Given the description of an element on the screen output the (x, y) to click on. 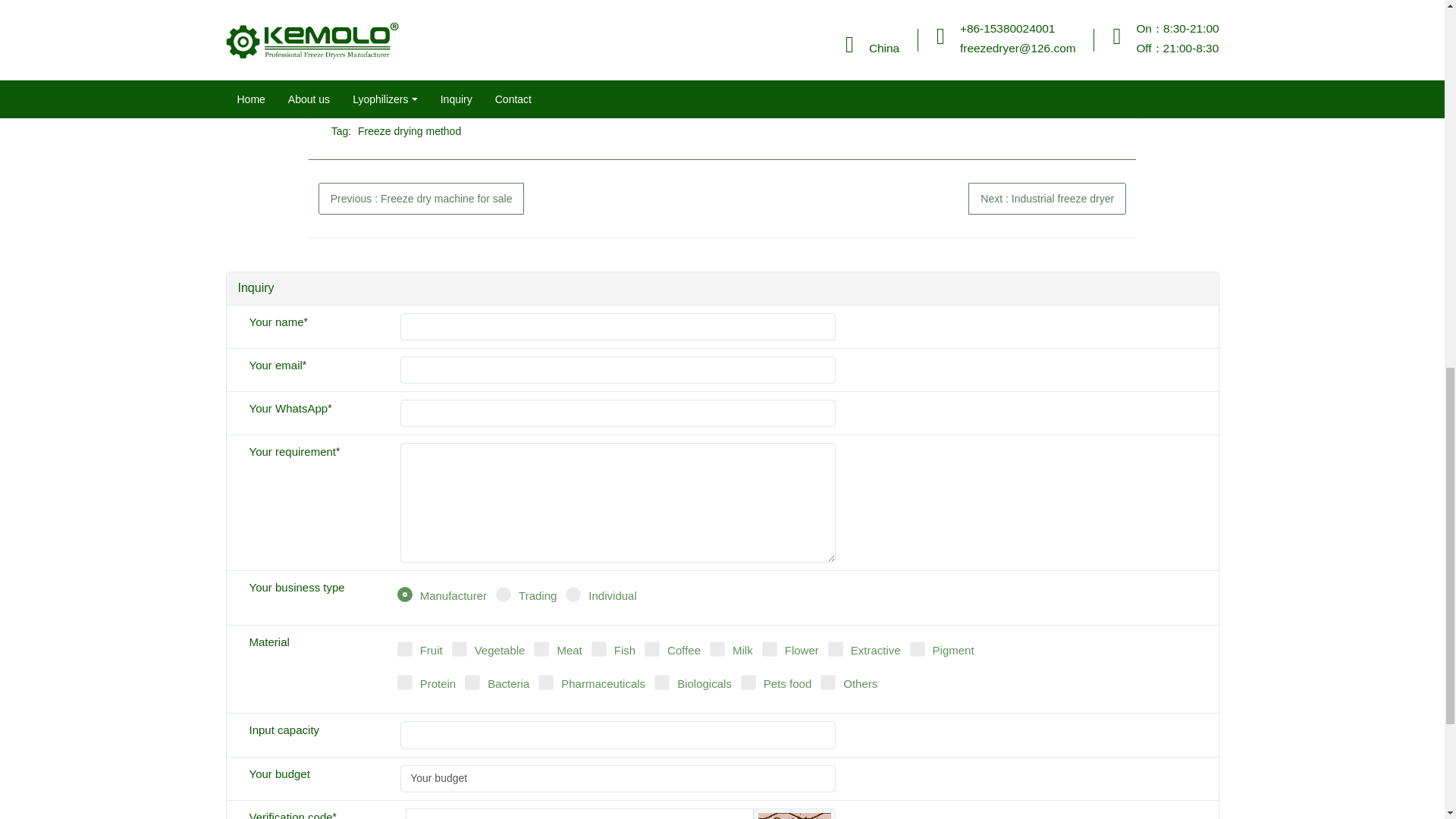
Freeze drying method (408, 130)
Freeze drying method (408, 130)
Freeze dry machine for sale (421, 198)
Industrial freeze dryer (1046, 198)
Previous : Freeze dry machine for sale (421, 198)
Can (794, 816)
Next : Industrial freeze dryer (1046, 198)
